Given the description of an element on the screen output the (x, y) to click on. 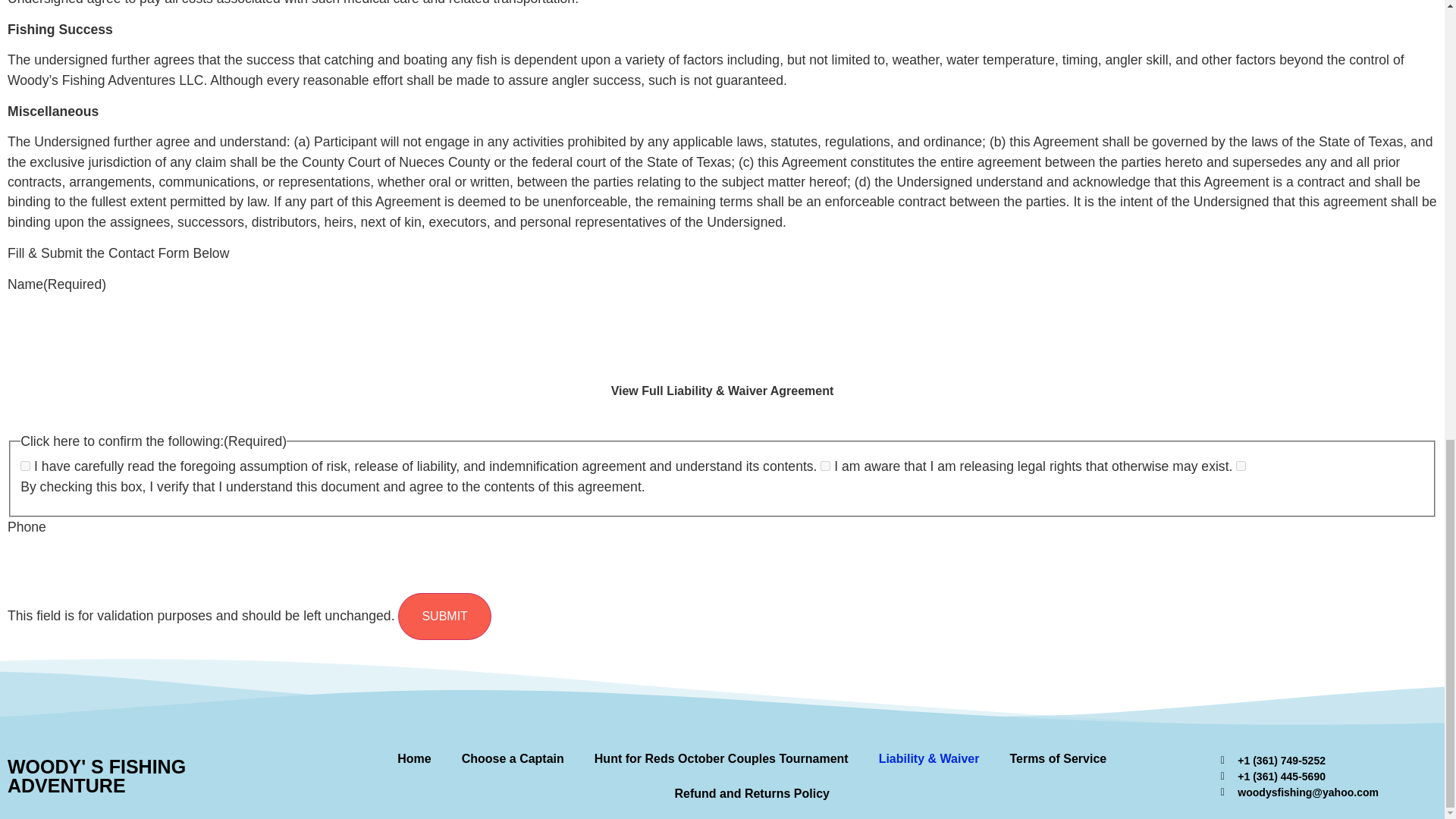
Submit (443, 615)
Choose a Captain (512, 759)
Submit (443, 615)
Home (413, 759)
Terms of Service (1057, 759)
Hunt for Reds October Couples Tournament (721, 759)
Refund and Returns Policy (751, 793)
